Given the description of an element on the screen output the (x, y) to click on. 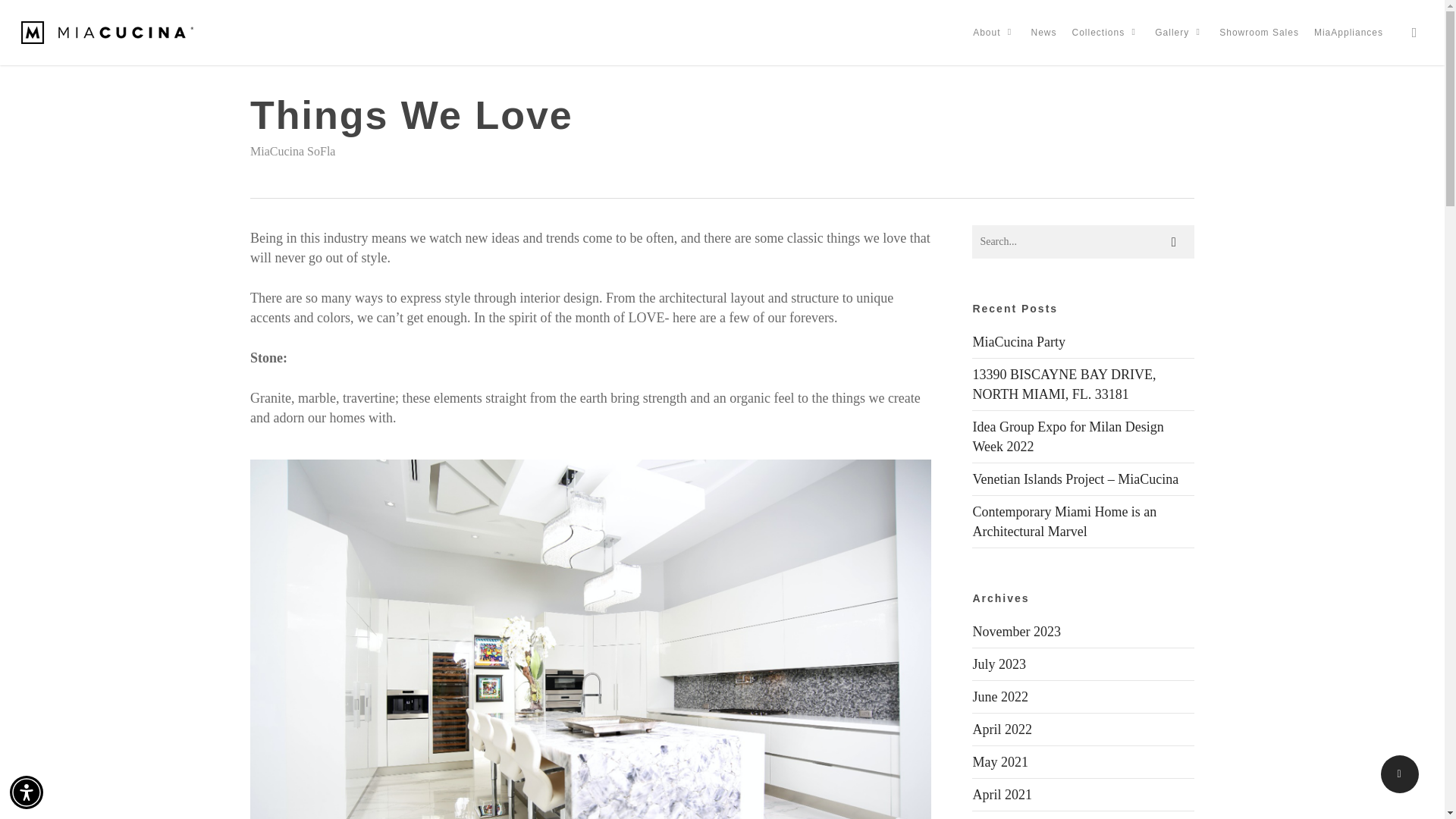
MiaCucina SoFla (292, 151)
13390 BISCAYNE BAY DRIVE, NORTH MIAMI, FL. 33181 (1064, 384)
About (994, 31)
Cliengo Widget (1405, 778)
News (1043, 31)
MiaCucina Party (1018, 341)
Accessibility Menu (26, 792)
Collections (1106, 31)
search (1414, 32)
June 2022 (999, 696)
Showroom Sales (1258, 31)
July 2023 (999, 663)
MiaAppliances (1348, 31)
November 2023 (1015, 631)
Gallery (1179, 31)
